Given the description of an element on the screen output the (x, y) to click on. 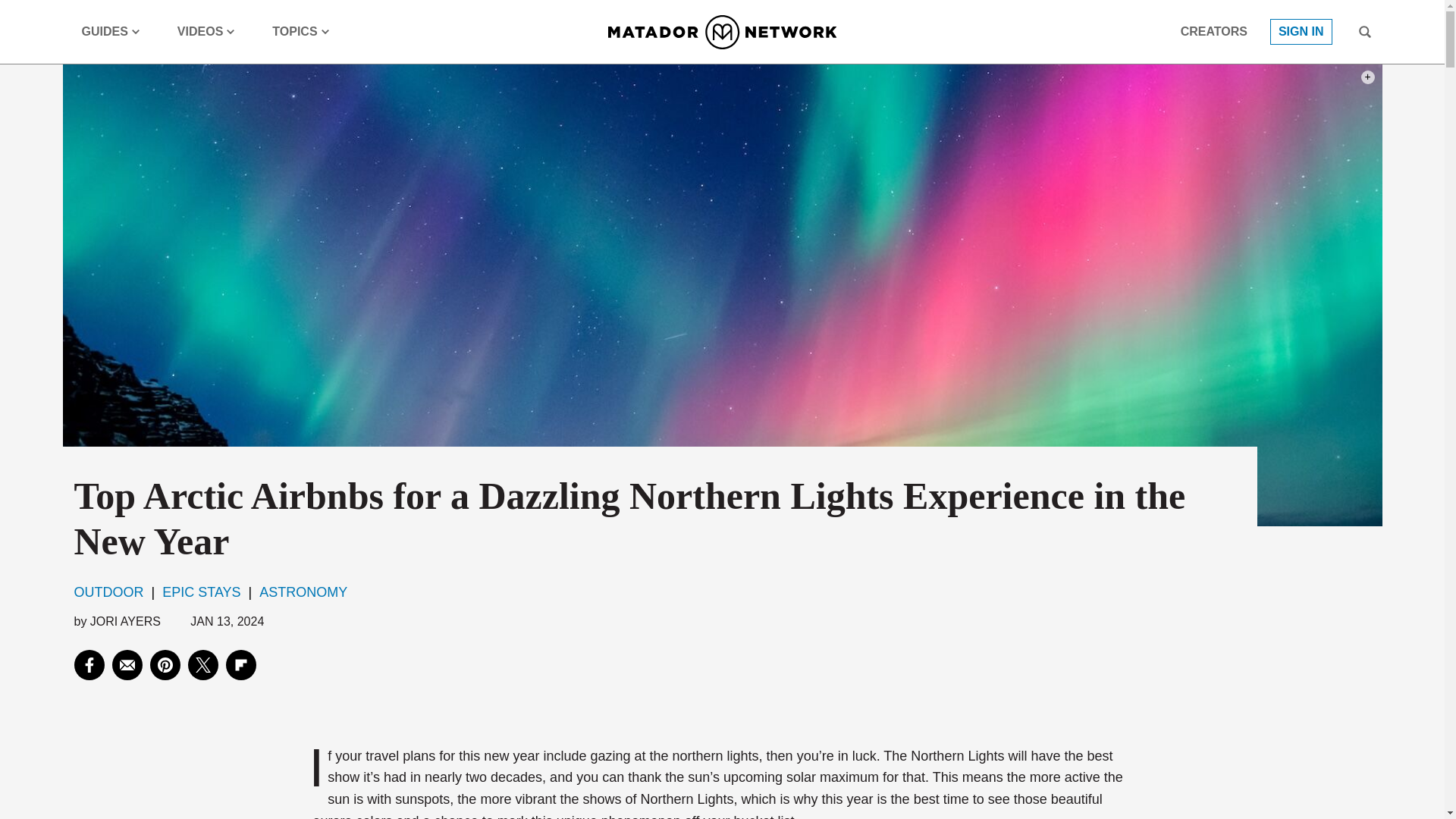
GUIDES (110, 31)
TOPICS (300, 31)
CREATORS (1213, 31)
VIDEOS (205, 31)
SIGN IN (1300, 31)
